Given the description of an element on the screen output the (x, y) to click on. 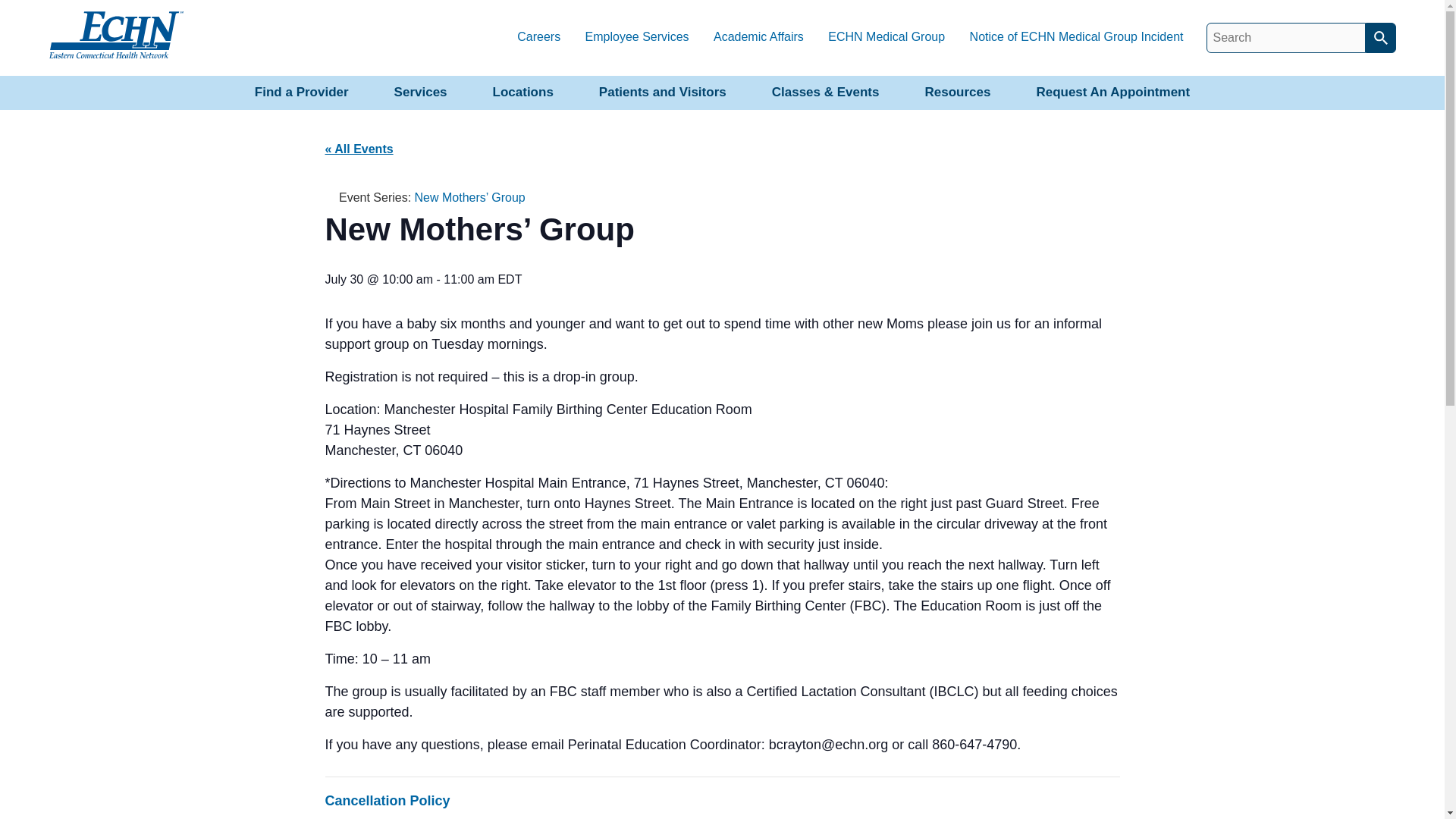
Event Series (329, 198)
Event Series: (330, 196)
